Given the description of an element on the screen output the (x, y) to click on. 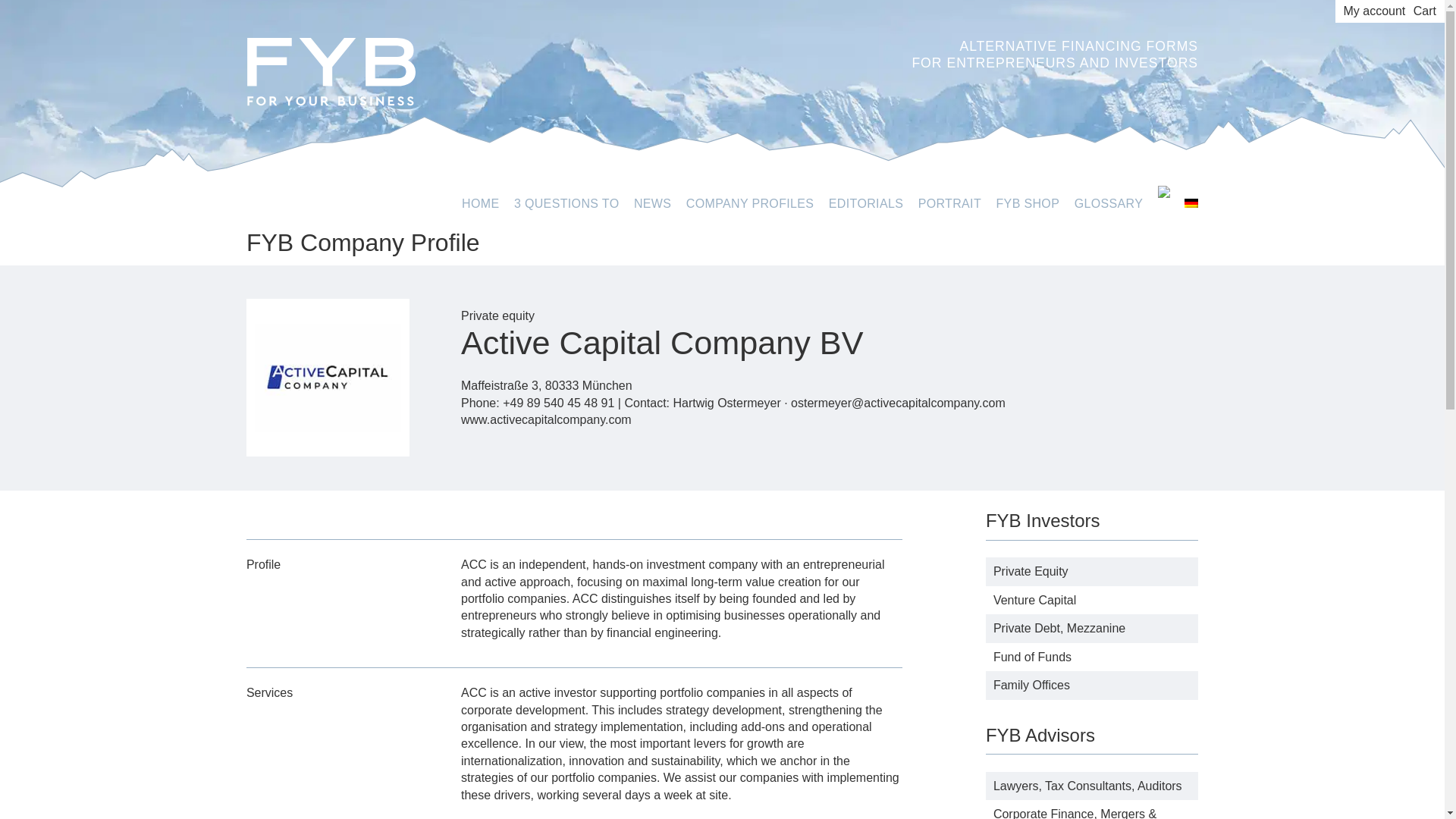
Venture Capital (1033, 599)
Private Equity (1030, 571)
EDITORIALS (865, 203)
Lawyers, Tax Consultants, Auditors (1087, 785)
Family Offices (1031, 684)
Cart (1424, 10)
Fund of Funds (1031, 656)
PORTRAIT (949, 203)
www.activecapitalcompany.com (546, 419)
My account (1374, 10)
